Given the description of an element on the screen output the (x, y) to click on. 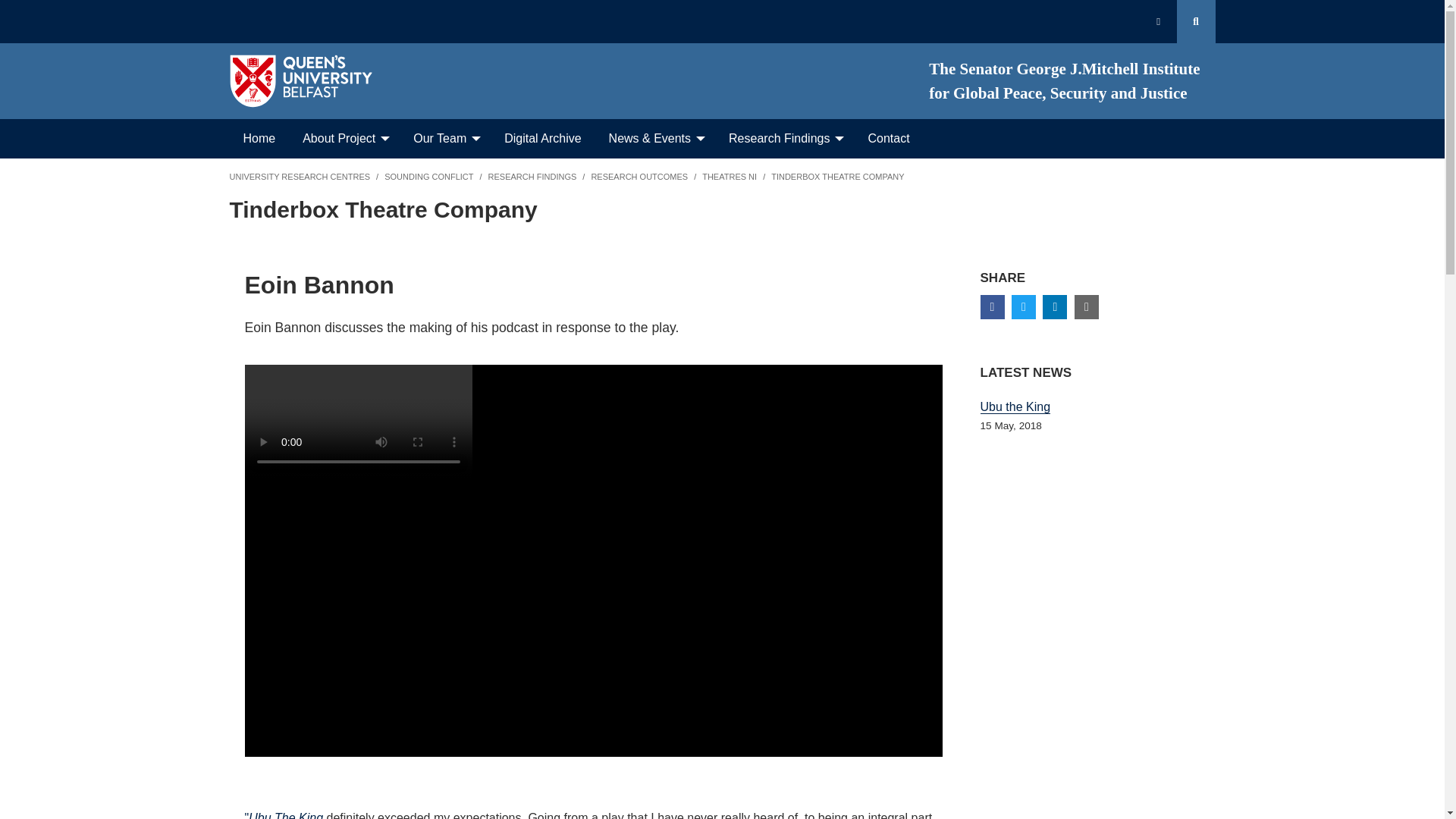
Our Team (441, 138)
Contact (888, 138)
Home (258, 138)
About Project (340, 138)
Research Findings (780, 138)
Digital Archive (542, 138)
